Given the description of an element on the screen output the (x, y) to click on. 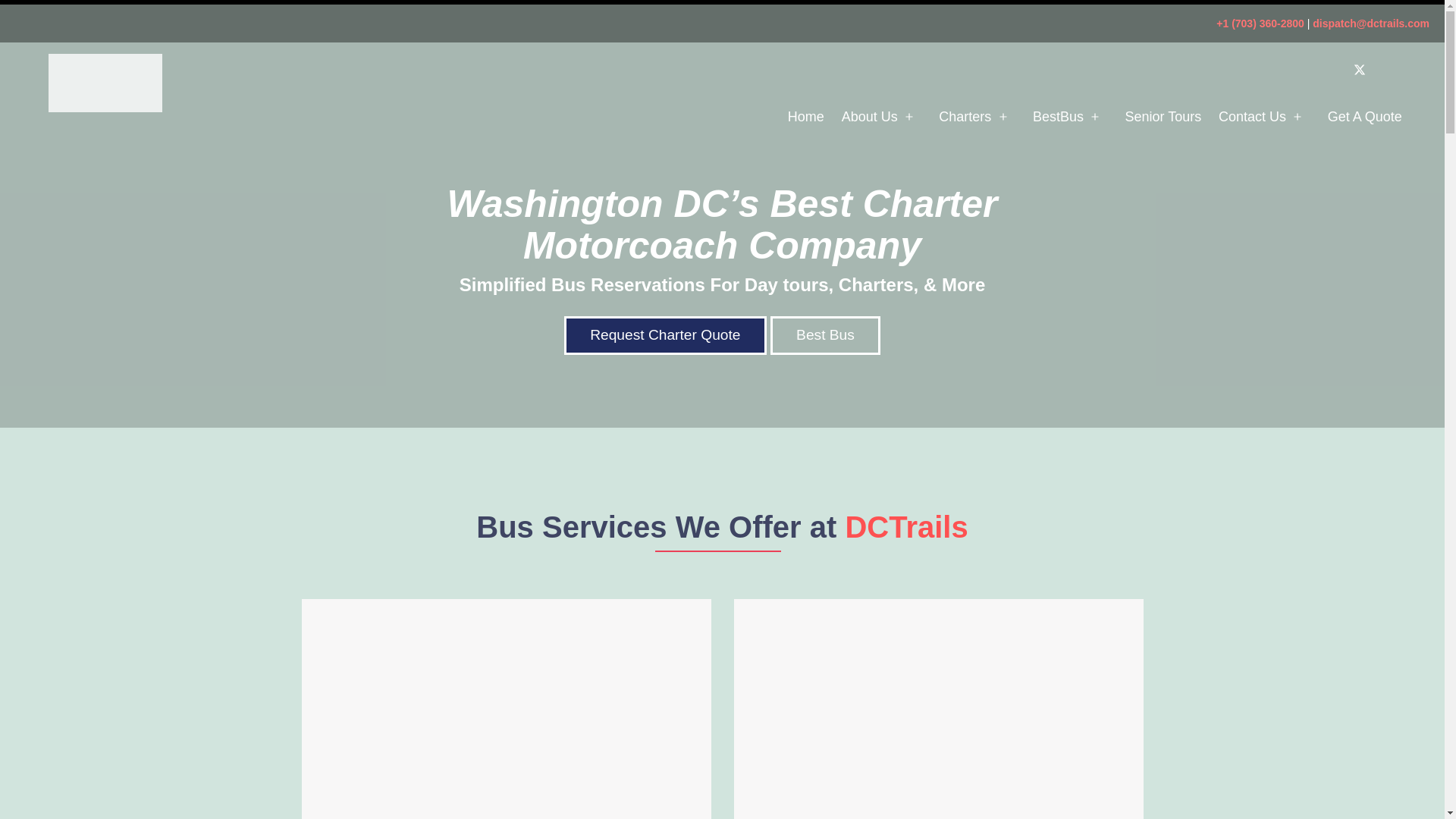
Home (805, 116)
Senior Tours (1163, 116)
Open menu (1095, 116)
About Us (869, 116)
Open menu (909, 116)
Best Bus (825, 335)
Get A Quote (1364, 116)
Open menu (1297, 116)
Open menu (1003, 116)
Contact Us (1252, 116)
Request Charter Quote (664, 335)
BestBus (1058, 116)
Charters (964, 116)
